Given the description of an element on the screen output the (x, y) to click on. 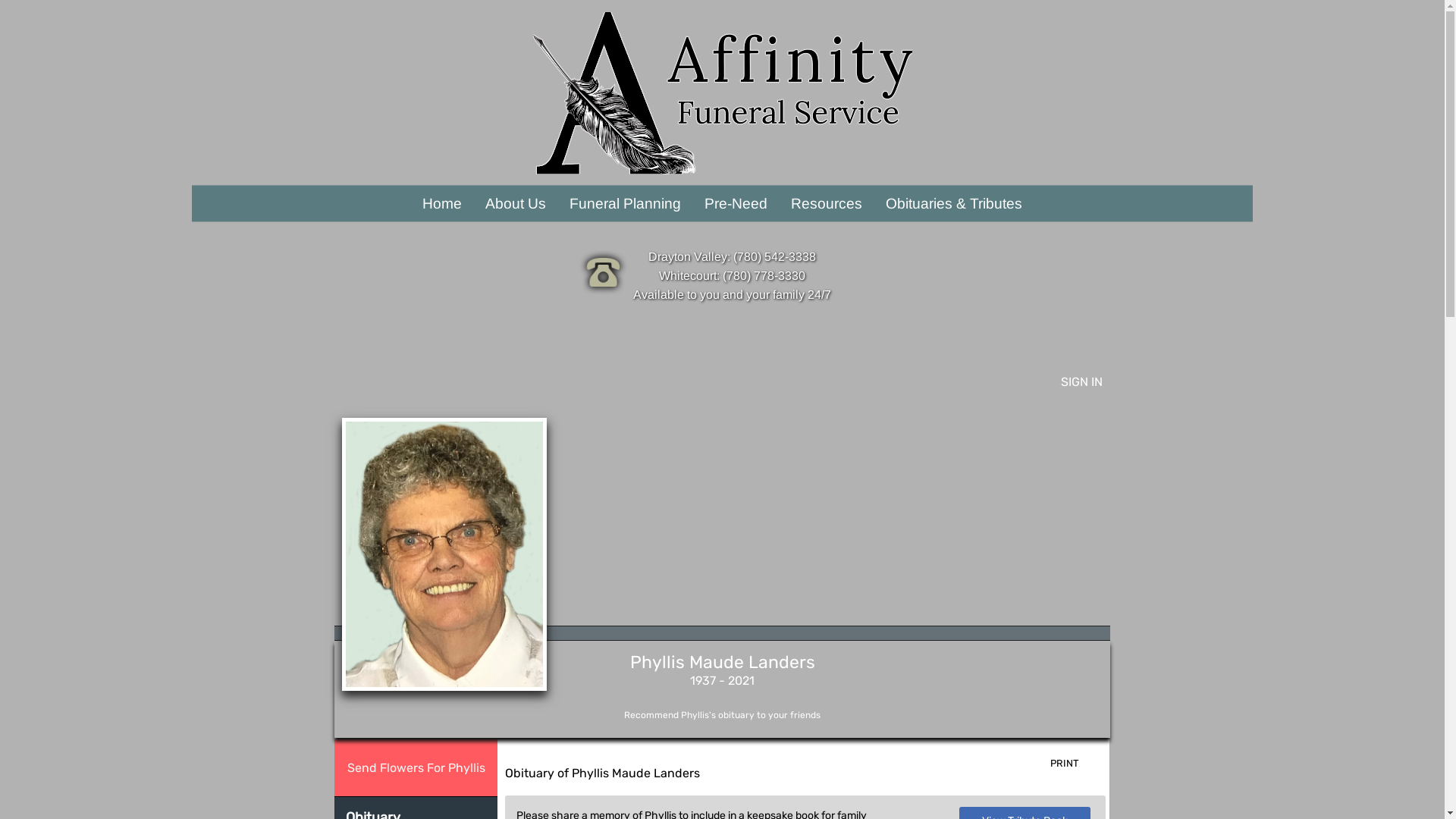
PRINT Element type: text (1075, 763)
Funeral Planning Element type: text (625, 203)
About Us Element type: text (515, 203)
SIGN IN Element type: text (1081, 381)
Pre-Need Element type: text (736, 203)
Resources Element type: text (826, 203)
Home Element type: text (442, 203)
(780) 778-3330 Element type: text (762, 275)
(780) 542-3338 Element type: text (773, 256)
Obituaries & Tributes Element type: text (953, 203)
Send Flowers For Phyllis Element type: text (415, 767)
